Given the description of an element on the screen output the (x, y) to click on. 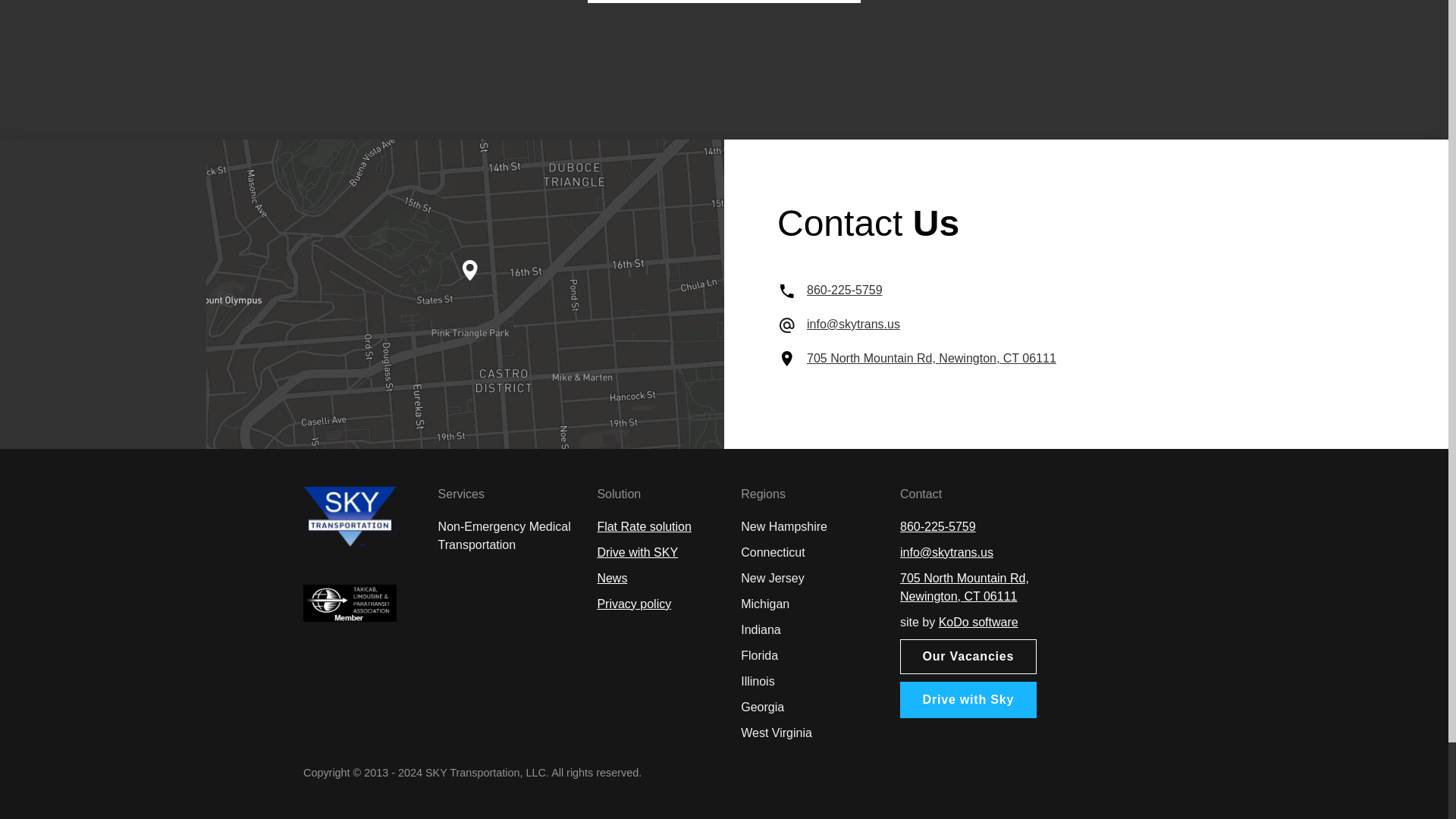
News (611, 577)
KoDo software (978, 621)
Drive with SKY (637, 552)
705 North Mountain Rd, Newington, CT 06111 (964, 586)
860-225-5759 (844, 289)
Privacy policy (633, 603)
860-225-5759 (937, 526)
Flat Rate solution (643, 526)
Our Vacancies (967, 656)
705 North Mountain Rd, Newington, CT 06111 (931, 358)
Drive with Sky (967, 699)
